Given the description of an element on the screen output the (x, y) to click on. 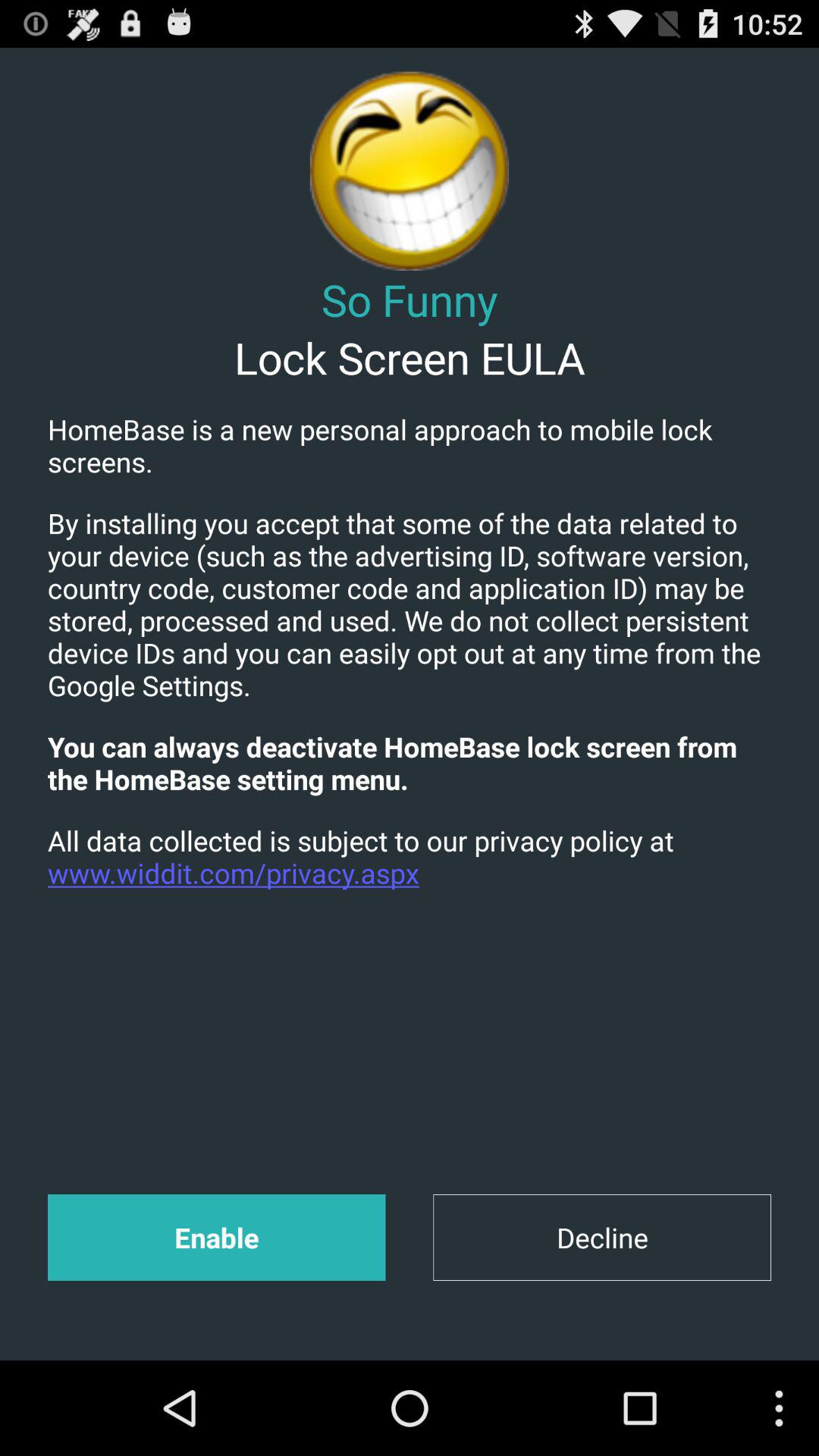
launch the app below the homebase is a item (409, 604)
